Given the description of an element on the screen output the (x, y) to click on. 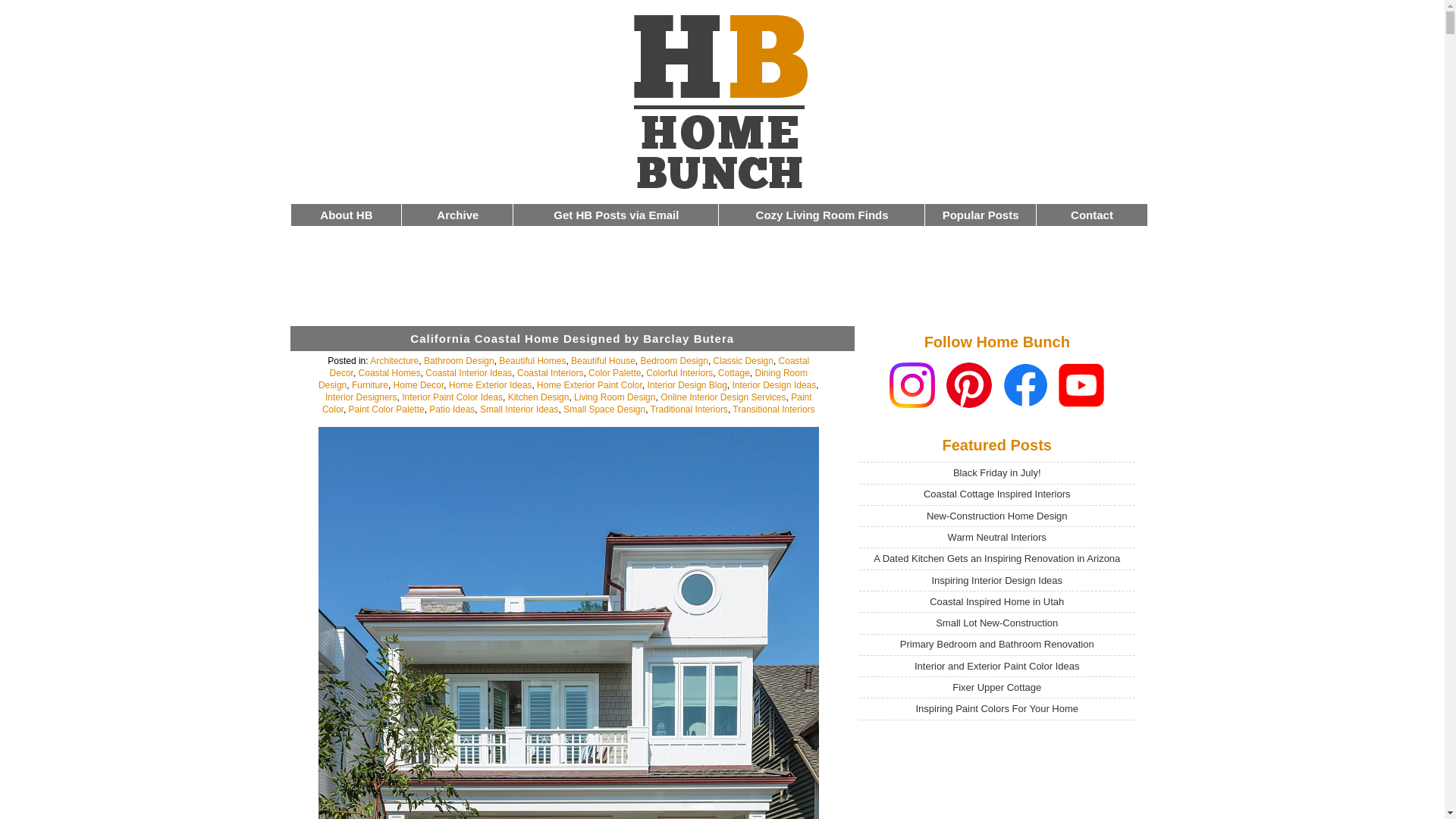
Furniture (370, 385)
Beautiful House (602, 360)
Beautiful Homes (532, 360)
Cottage (733, 372)
Get HB Posts via Email (615, 214)
Color Palette (614, 372)
Coastal Interiors (549, 372)
California Coastal Home Designed by Barclay Butera (571, 338)
Interior Paint Color Ideas (451, 397)
Paint Color (566, 403)
Classic Design (743, 360)
Home Decor (418, 385)
Coastal Homes (389, 372)
Patio Ideas (451, 409)
Interior Designers (360, 397)
